Given the description of an element on the screen output the (x, y) to click on. 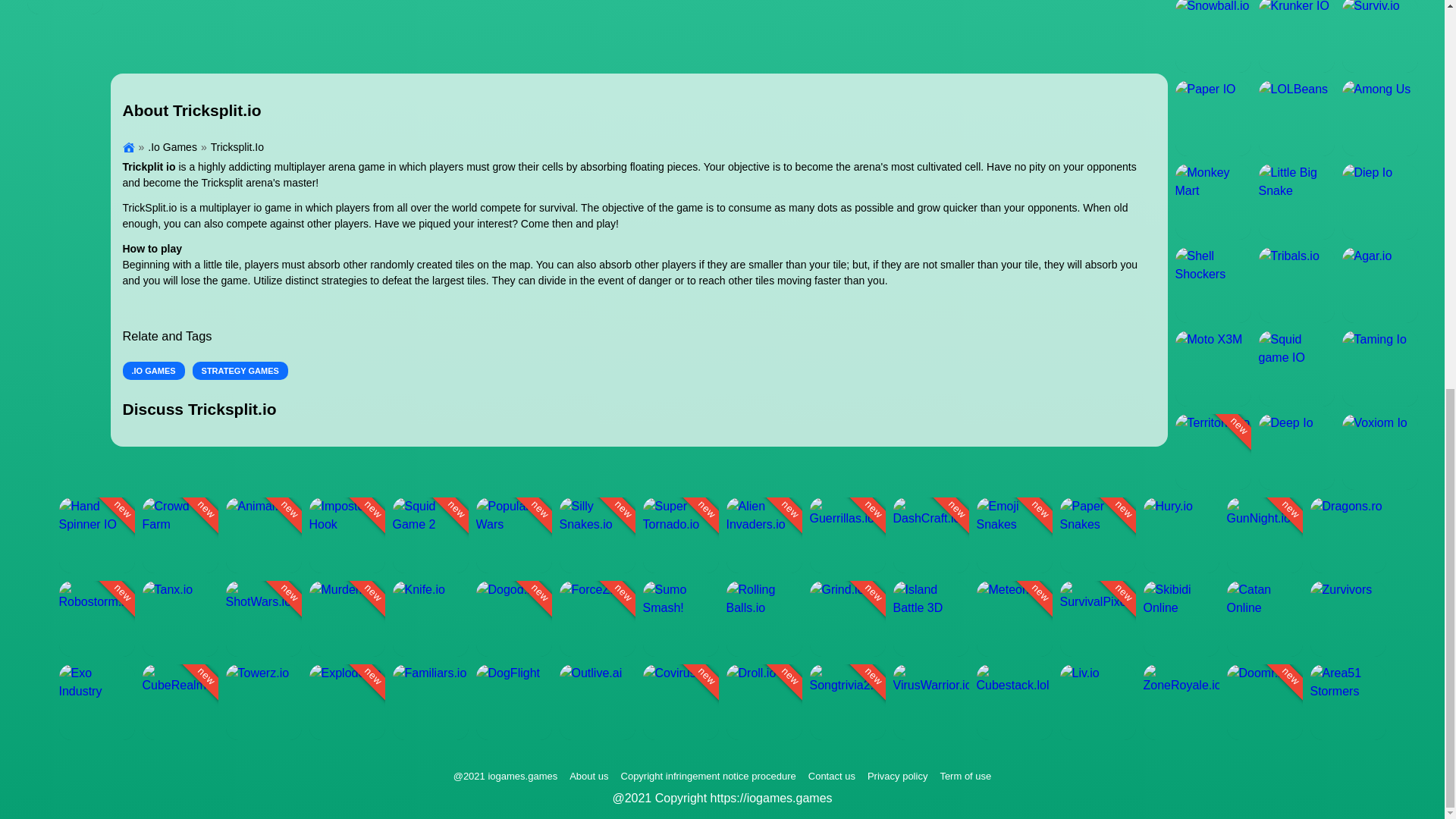
Snowball.io (65, 7)
.Io Games (165, 147)
.IO GAMES (153, 370)
STRATEGY GAMES (240, 370)
Snowball.io (1212, 36)
